Given the description of an element on the screen output the (x, y) to click on. 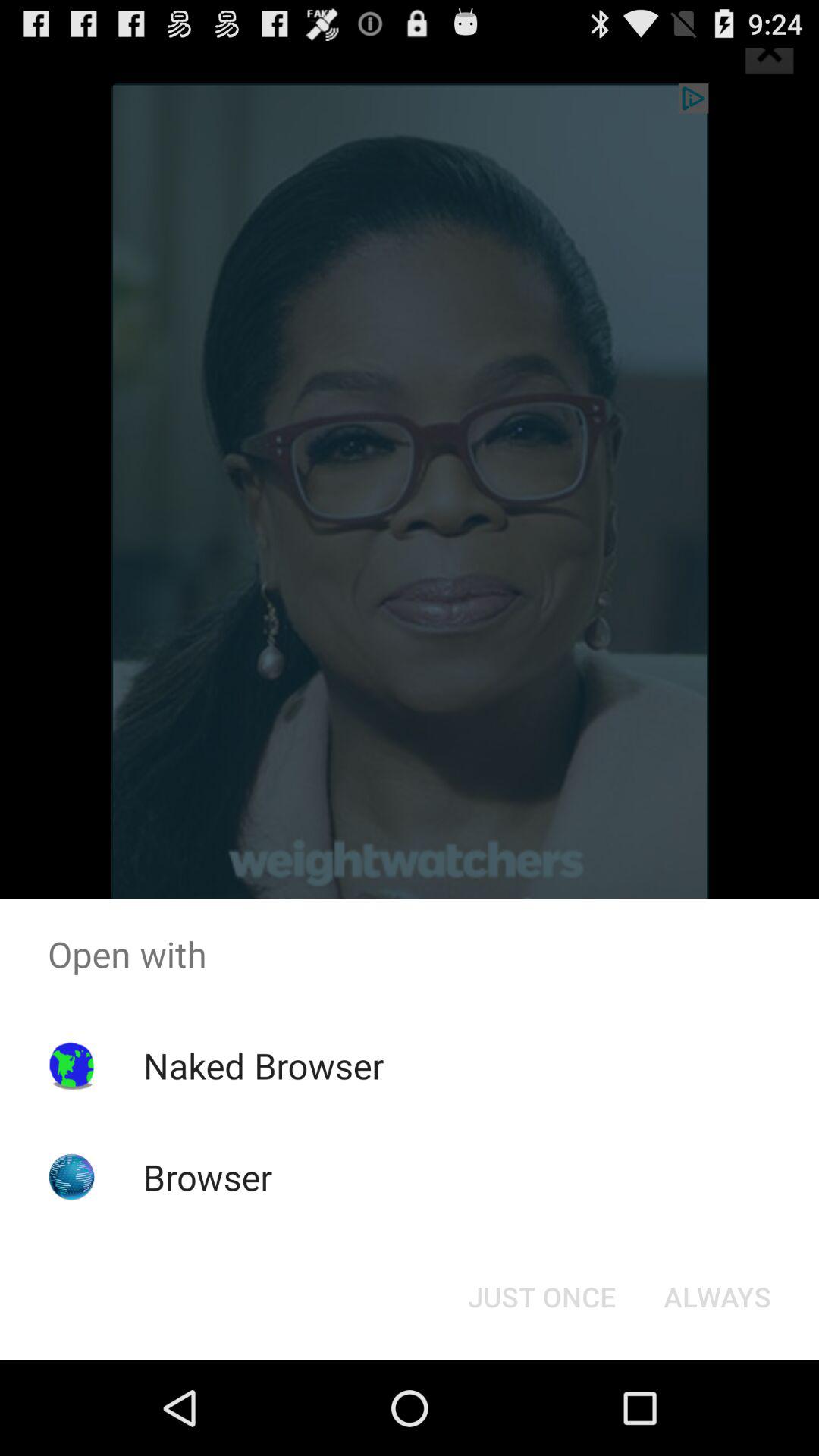
launch icon below the open with app (263, 1065)
